Given the description of an element on the screen output the (x, y) to click on. 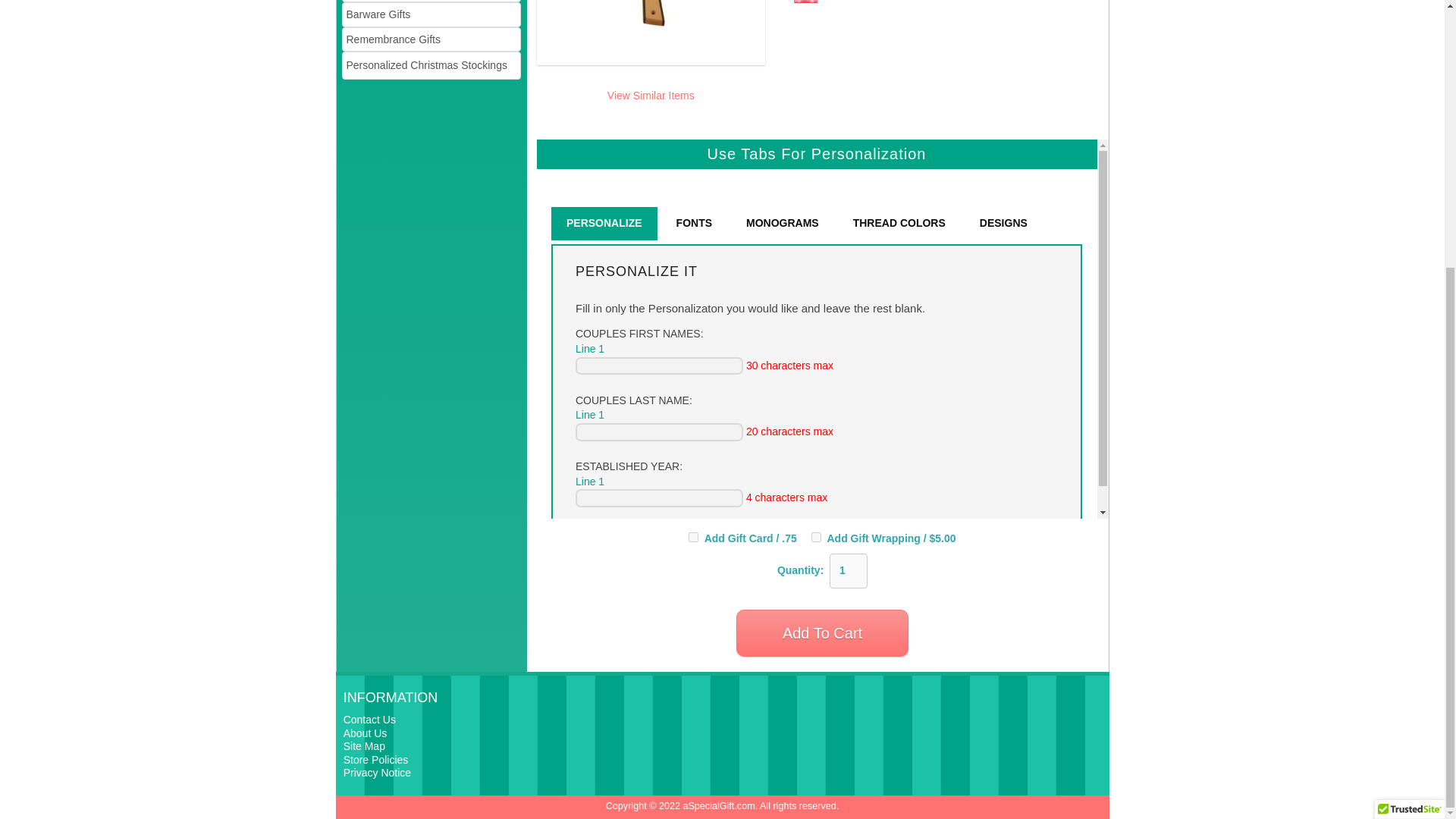
Store Policies (376, 759)
Barware Gifts (430, 14)
Contact Us (369, 719)
Privacy Notice (376, 772)
Personalized Christmas Stockings (430, 65)
ON (693, 537)
ON (815, 537)
1 (848, 570)
Anniversary Gifts (430, 1)
Site Map (364, 746)
About Us (365, 733)
Add To Cart (822, 632)
View Similar Items (650, 95)
Remembrance Gifts (430, 39)
